Given the description of an element on the screen output the (x, y) to click on. 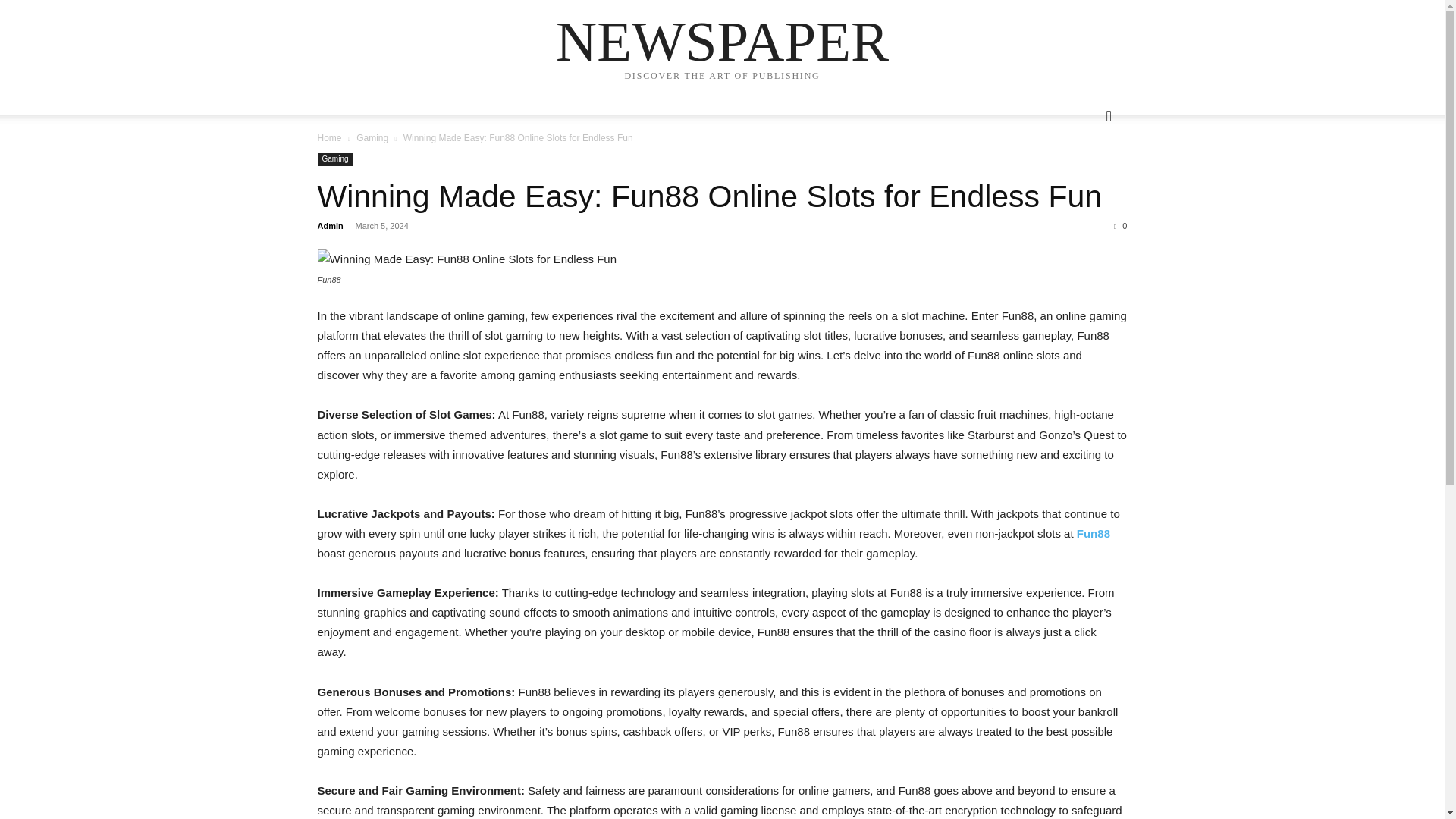
Winning Made Easy: Fun88 Online Slots for Endless Fun (721, 259)
NEWSPAPER (722, 41)
Home (328, 137)
Winning Made Easy: Fun88 Online Slots for Endless Fun (709, 196)
Fun88 (1093, 533)
View all posts in Gaming (372, 137)
Gaming (334, 159)
Admin (329, 225)
0 (1119, 225)
Winning Made Easy: Fun88 Online Slots for Endless Fun (709, 196)
